Given the description of an element on the screen output the (x, y) to click on. 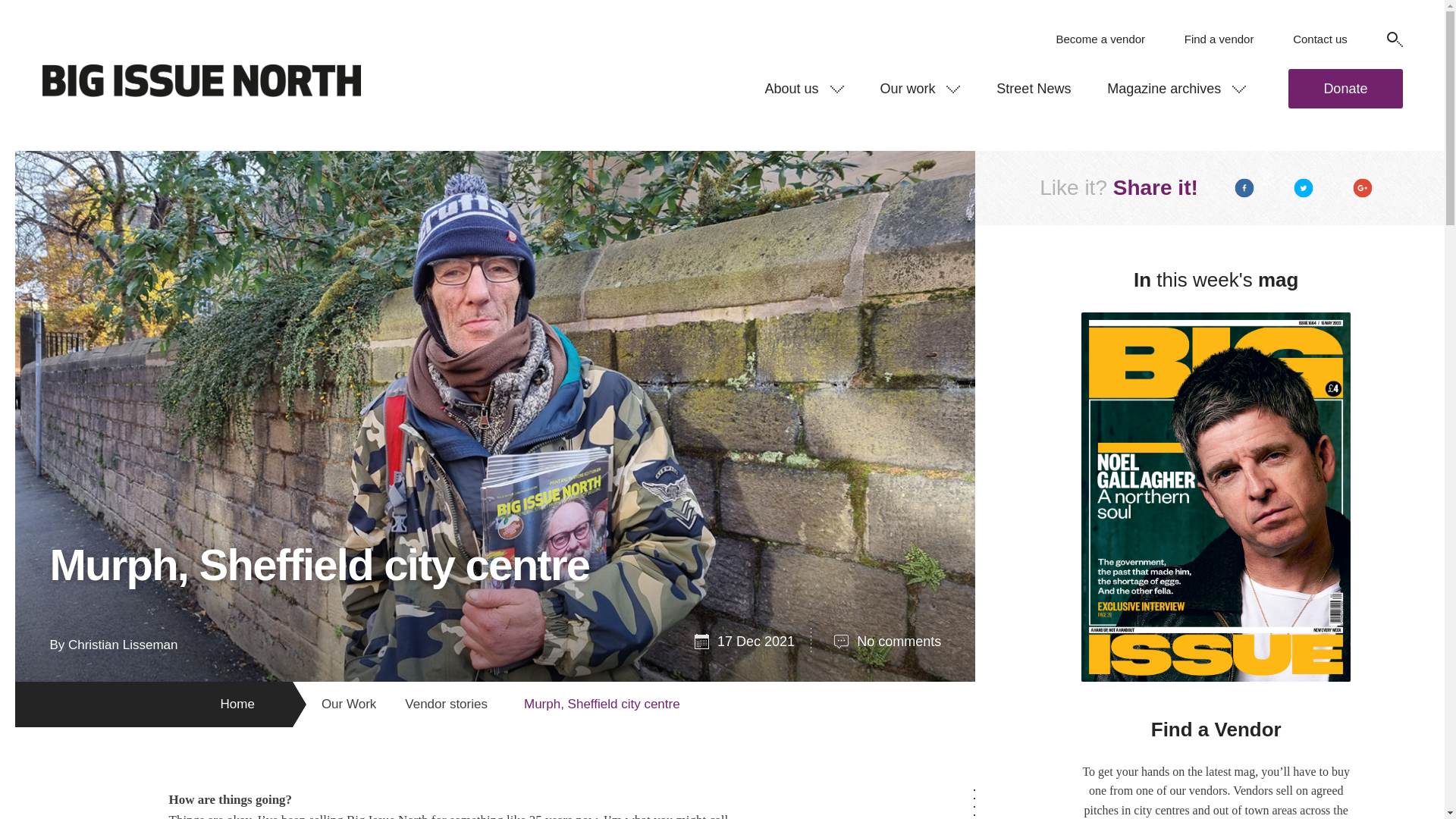
Share on Facebook (1244, 187)
About us (803, 88)
Share on Google Plus (1362, 187)
Donate with JustGiving (1345, 88)
Find a vendor (1219, 38)
Our work (919, 88)
Search Big Issue North (1394, 38)
Share on Twitter (1303, 187)
Contact us (1320, 38)
Become a vendor (1099, 38)
